Given the description of an element on the screen output the (x, y) to click on. 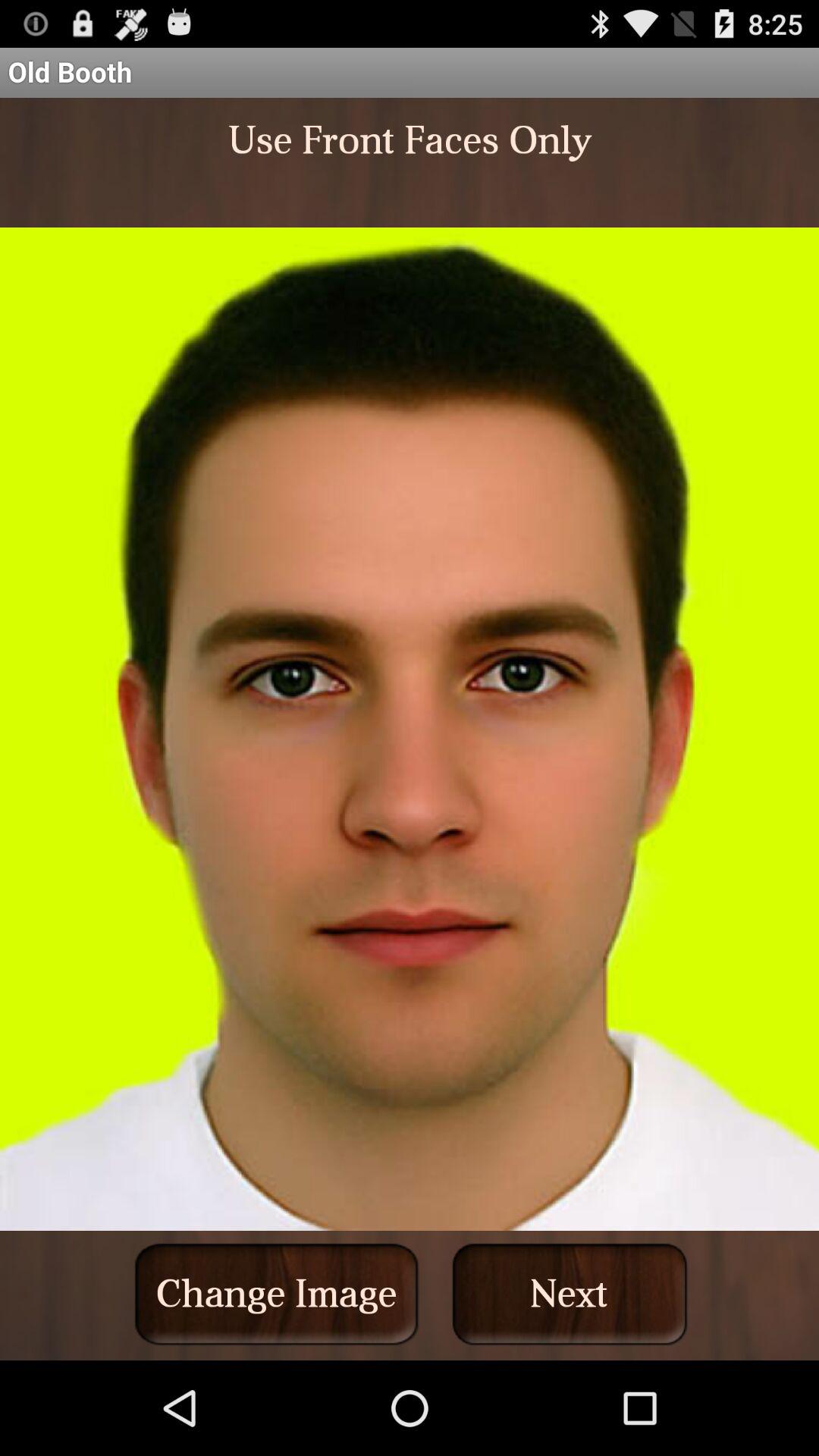
choose button next to next button (276, 1293)
